Given the description of an element on the screen output the (x, y) to click on. 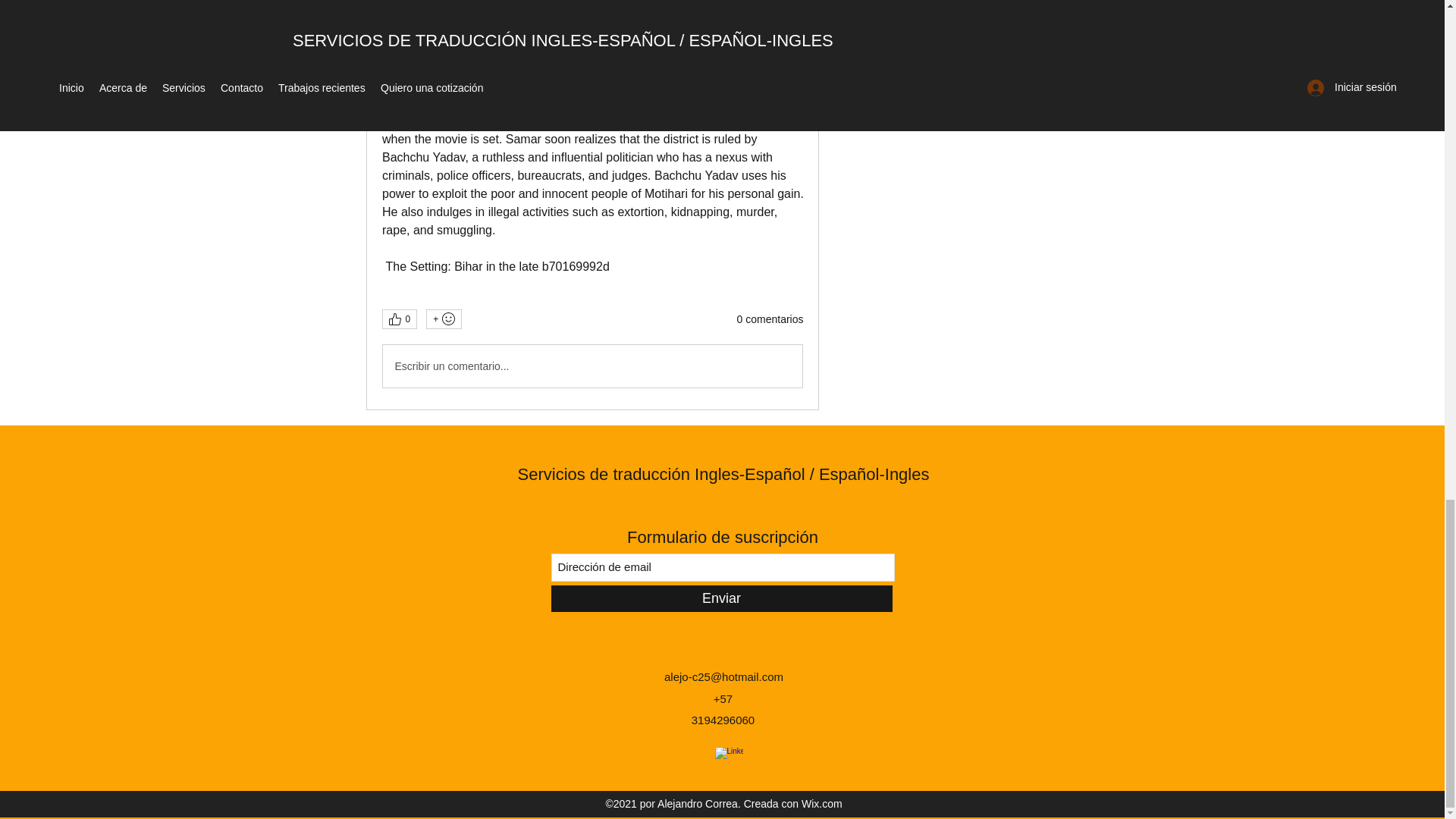
0 comentarios (769, 319)
Escribir un comentario... (591, 365)
Enviar (720, 598)
